Given the description of an element on the screen output the (x, y) to click on. 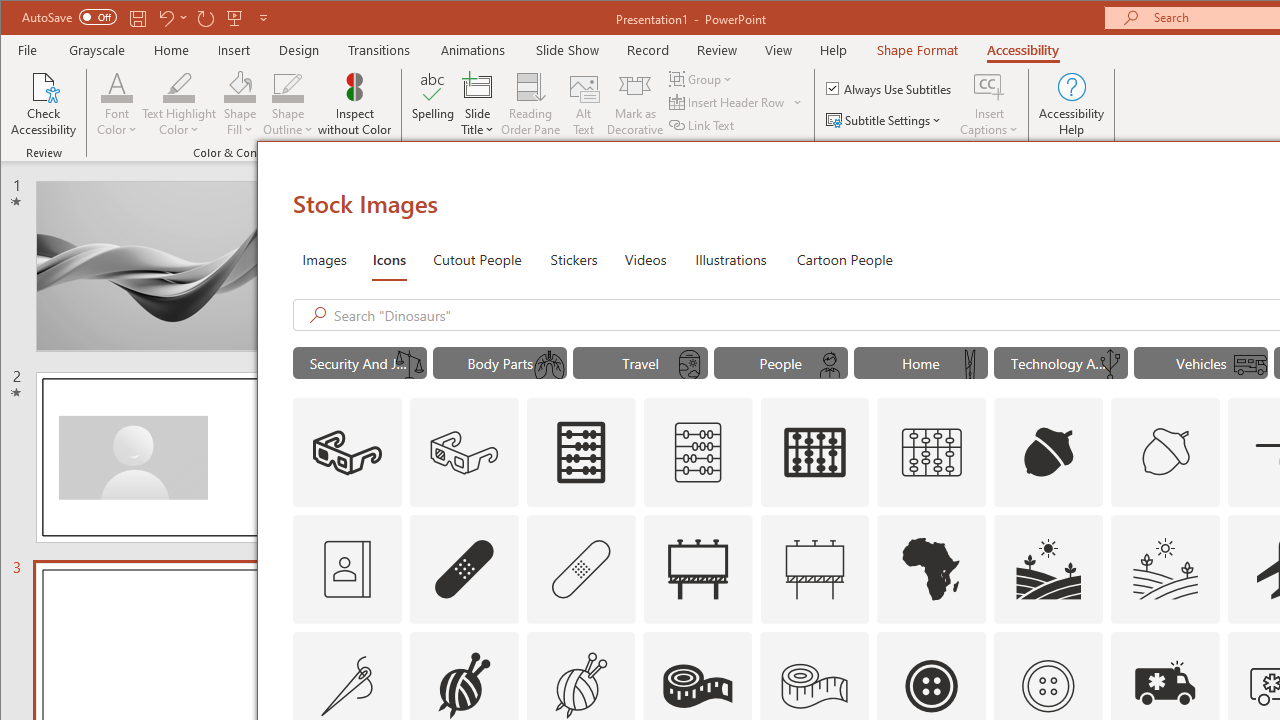
Insert Captions (989, 86)
Slide Title (477, 86)
AutomationID: Icons (1048, 686)
AutomationID: Icons_AdhesiveBandage (463, 568)
AutomationID: Icons_Advertising (697, 568)
AutomationID: Icons_Agriculture (1048, 568)
AutomationID: Icons_PlaneWindow_M (689, 365)
Images (324, 258)
AutomationID: Icons_Abacus1 (815, 452)
Reading Order Pane (531, 104)
Link Text (703, 124)
Icons (388, 258)
